Given the description of an element on the screen output the (x, y) to click on. 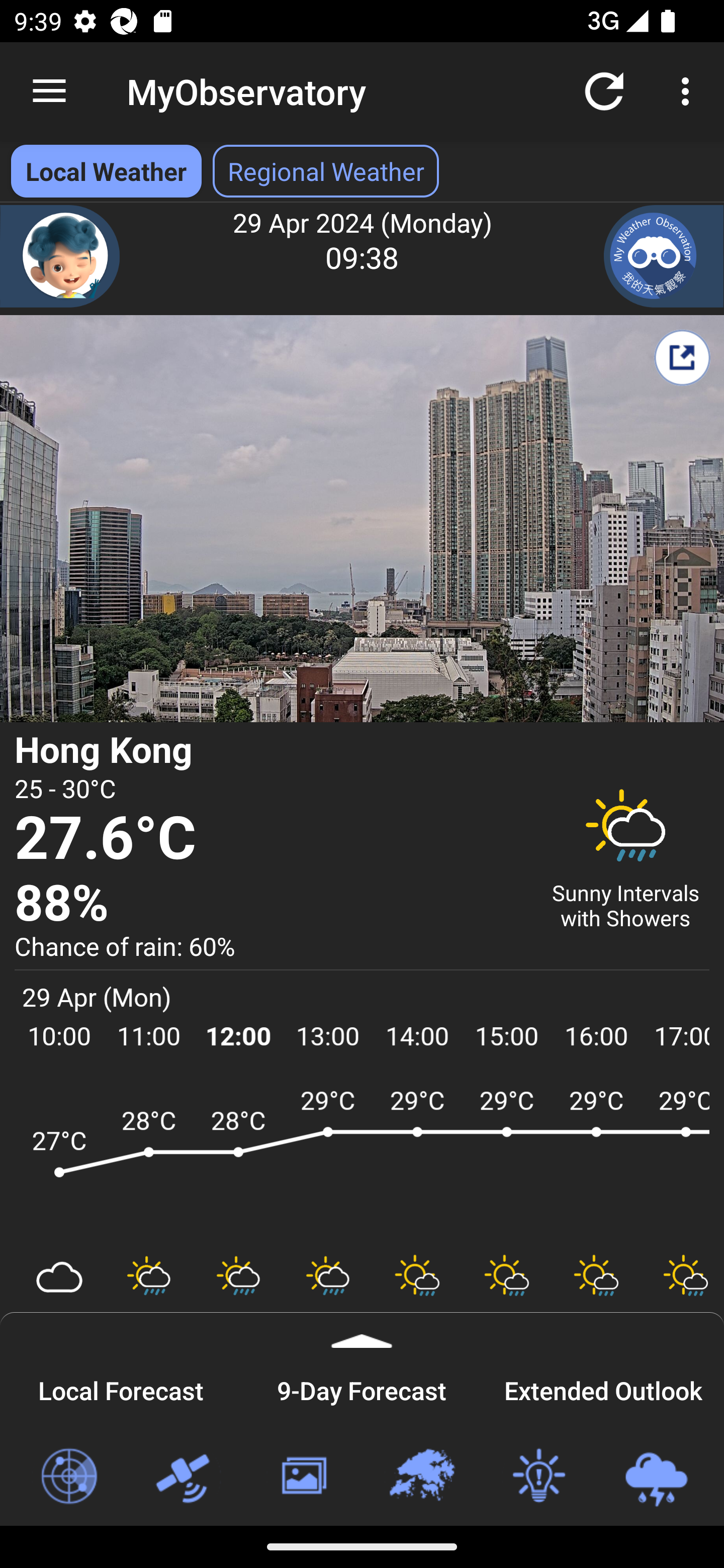
Navigate up (49, 91)
Refresh (604, 90)
More options (688, 90)
Local Weather Local Weather selected (105, 170)
Regional Weather Select Regional Weather (325, 170)
Chatbot (60, 256)
My Weather Observation (663, 256)
Share My Weather Report (681, 357)
27.6°C Temperature
27.6 degree Celsius (270, 839)
88% Relative Humidity
88 percent (270, 903)
ARWF (361, 1160)
Expand (362, 1330)
Local Forecast (120, 1387)
Extended Outlook (603, 1387)
Radar Images (68, 1476)
Satellite Images (185, 1476)
Weather Photos (302, 1476)
Regional Weather (420, 1476)
Weather Tips (537, 1476)
Loc-based Rain & Lightning Forecast (655, 1476)
